Given the description of an element on the screen output the (x, y) to click on. 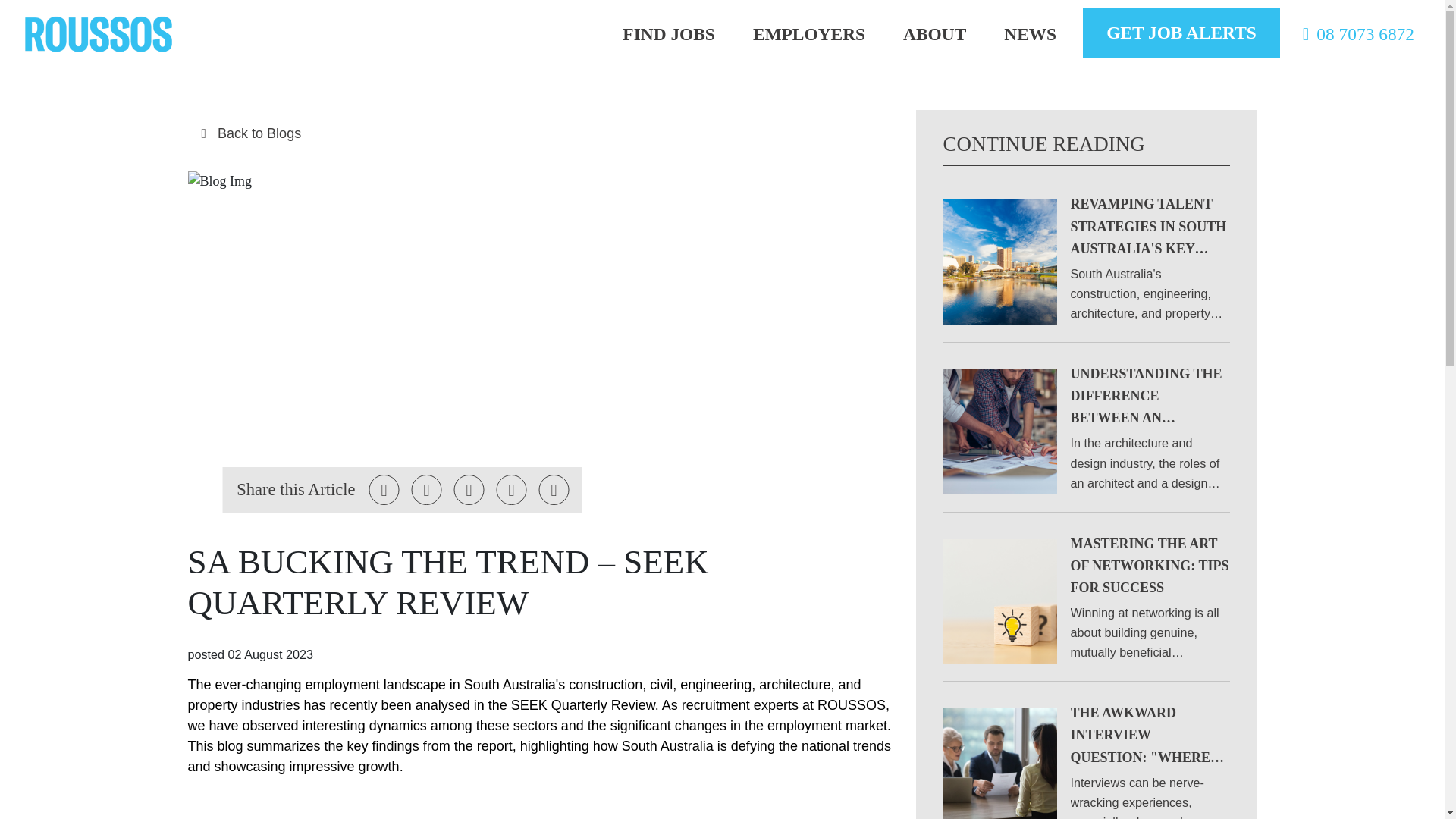
ABOUT (934, 34)
EMPLOYERS (808, 34)
08 7073 6872 (1354, 34)
Back to Blogs (540, 133)
NEWS (1030, 34)
Share on Facebook (427, 490)
Send in Whatsapp (553, 490)
Tweet this (383, 490)
Share on LinkedIn (469, 490)
